Given the description of an element on the screen output the (x, y) to click on. 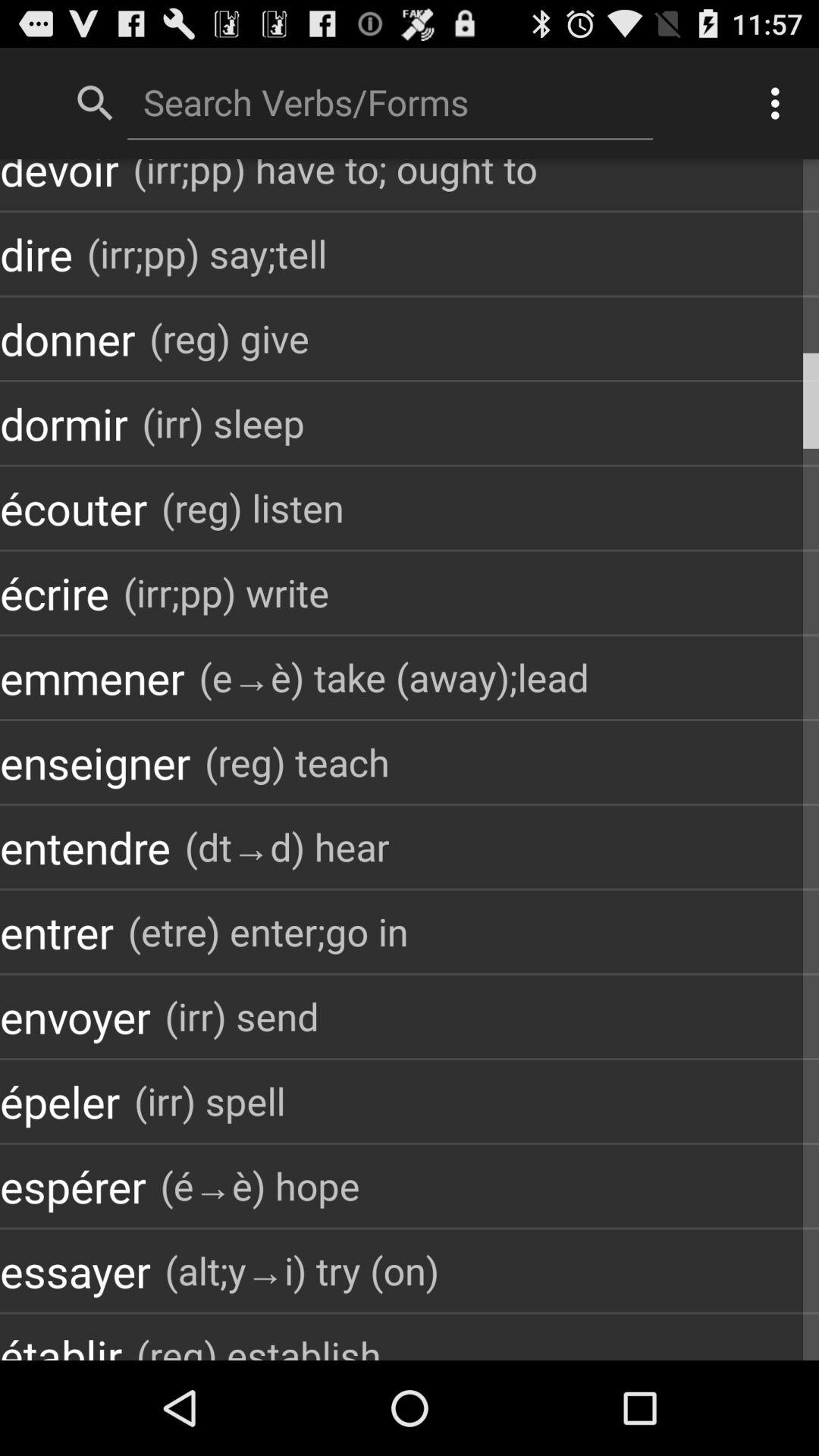
tap item to the left of the (irr) spell (60, 1101)
